Given the description of an element on the screen output the (x, y) to click on. 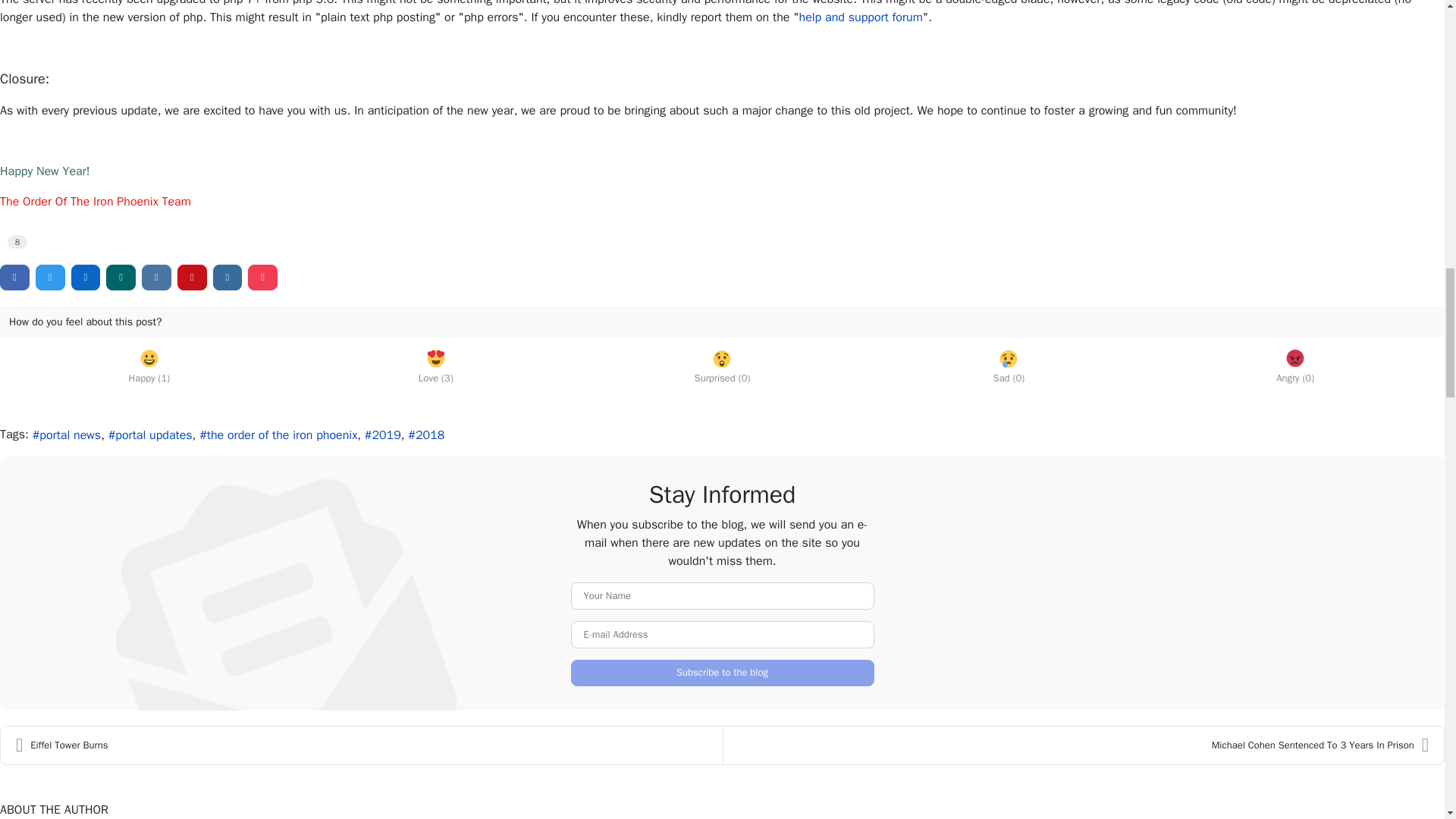
8 votes (17, 241)
help and support forum (861, 17)
8 (17, 241)
